Given the description of an element on the screen output the (x, y) to click on. 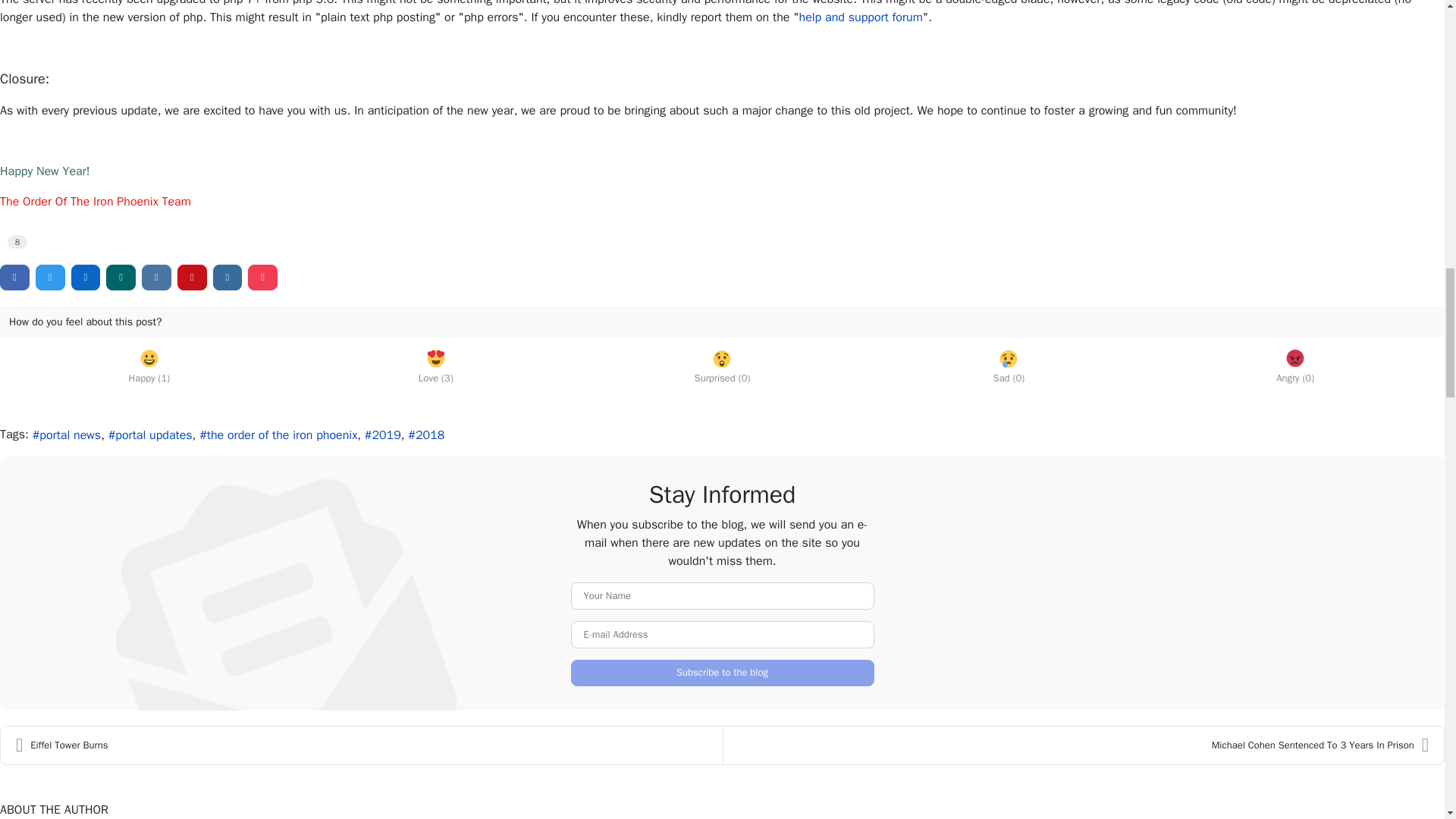
8 votes (17, 241)
help and support forum (861, 17)
8 (17, 241)
